Given the description of an element on the screen output the (x, y) to click on. 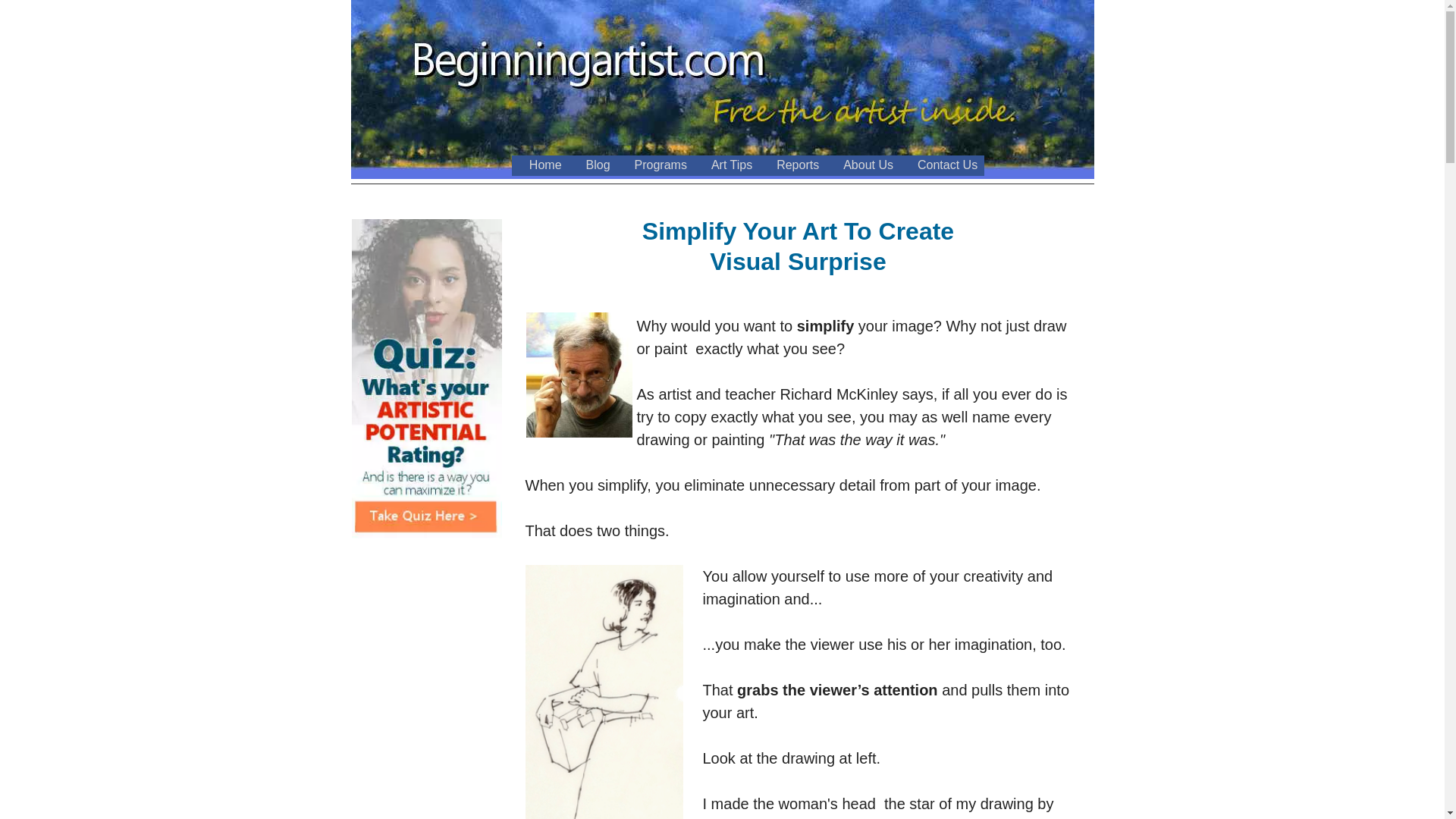
Contact Us (941, 165)
Home (540, 165)
